Given the description of an element on the screen output the (x, y) to click on. 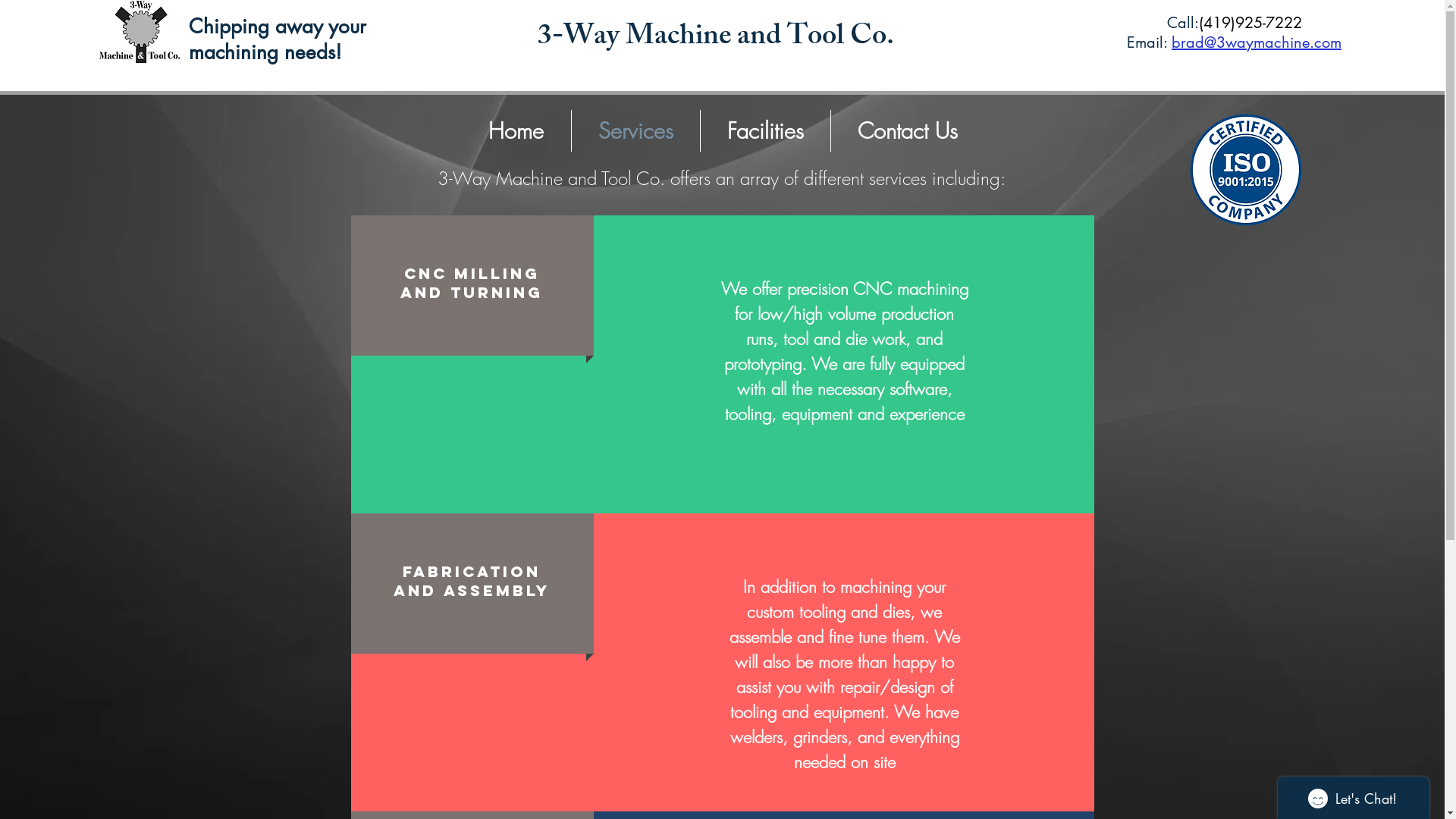
Facilities Element type: text (765, 130)
brad@3waymachine.com Element type: text (1256, 42)
Services Element type: text (635, 130)
Home Element type: text (515, 130)
Contact Us Element type: text (907, 130)
